Given the description of an element on the screen output the (x, y) to click on. 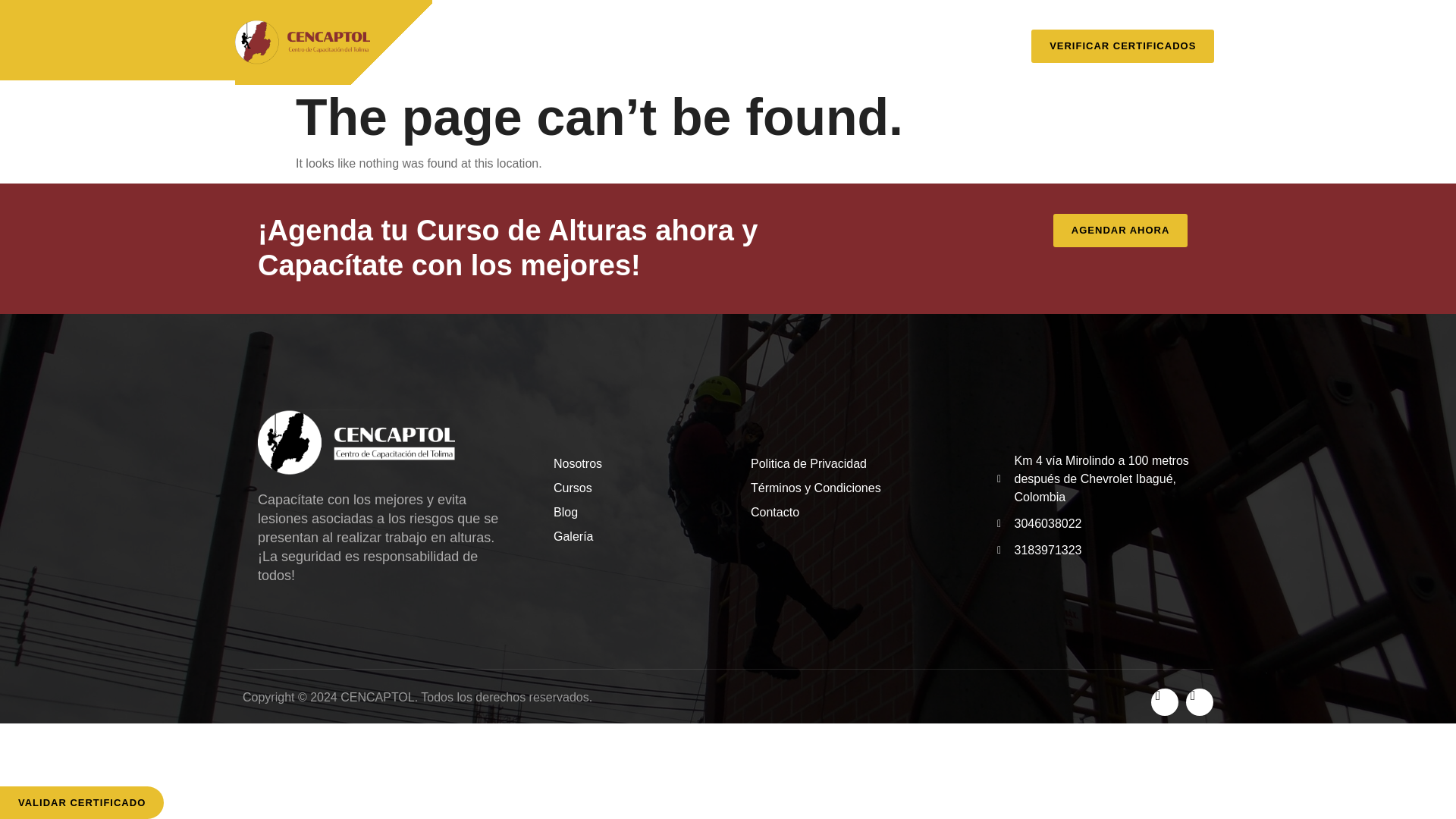
BLOG (875, 32)
SERVICIOS Y CAPACITACIONES (731, 32)
Nosotros (628, 463)
CONTACTO (738, 67)
Cursos (628, 487)
Blog (628, 512)
NOSOTROS (570, 32)
VERIFICAR CERTIFICADOS (1122, 42)
Politica de Privacidad (851, 463)
AGENDAR AHORA (1125, 230)
Contacto (851, 512)
AGENDAR AHORA (1120, 230)
INICIO (481, 32)
VERIFICAR CERTIFICADOS (1122, 46)
